Given the description of an element on the screen output the (x, y) to click on. 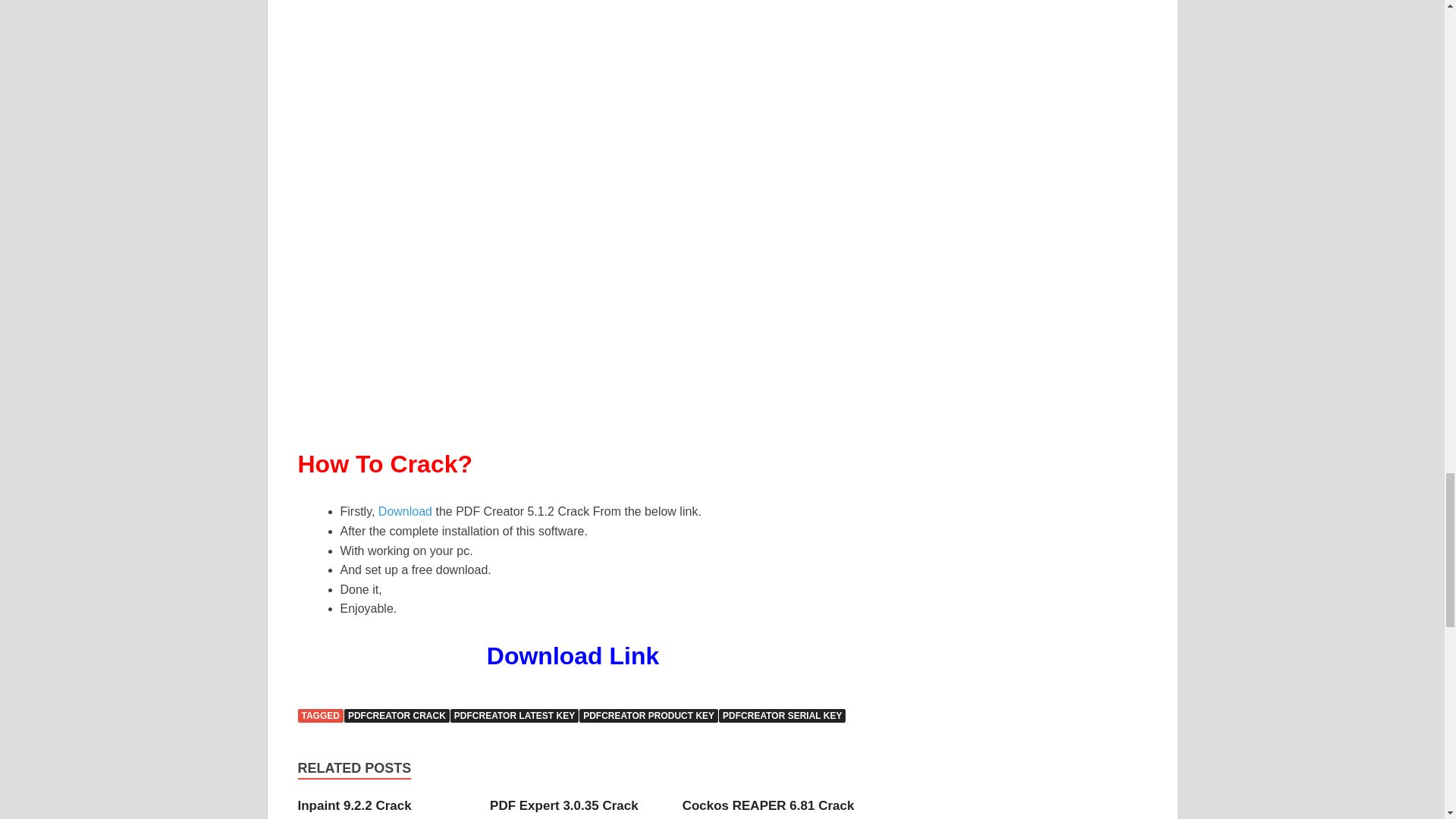
PDF Expert 3.0.35 Crack (564, 805)
PDFCREATOR SERIAL KEY (782, 715)
Download (406, 511)
Inpaint 9.2.2 Crack (353, 805)
Download Link  (575, 655)
PDFCREATOR LATEST KEY (513, 715)
PDFCREATOR PRODUCT KEY (648, 715)
PDFCREATOR CRACK (396, 715)
Inpaint 9.2.2 Crack (353, 805)
